Given the description of an element on the screen output the (x, y) to click on. 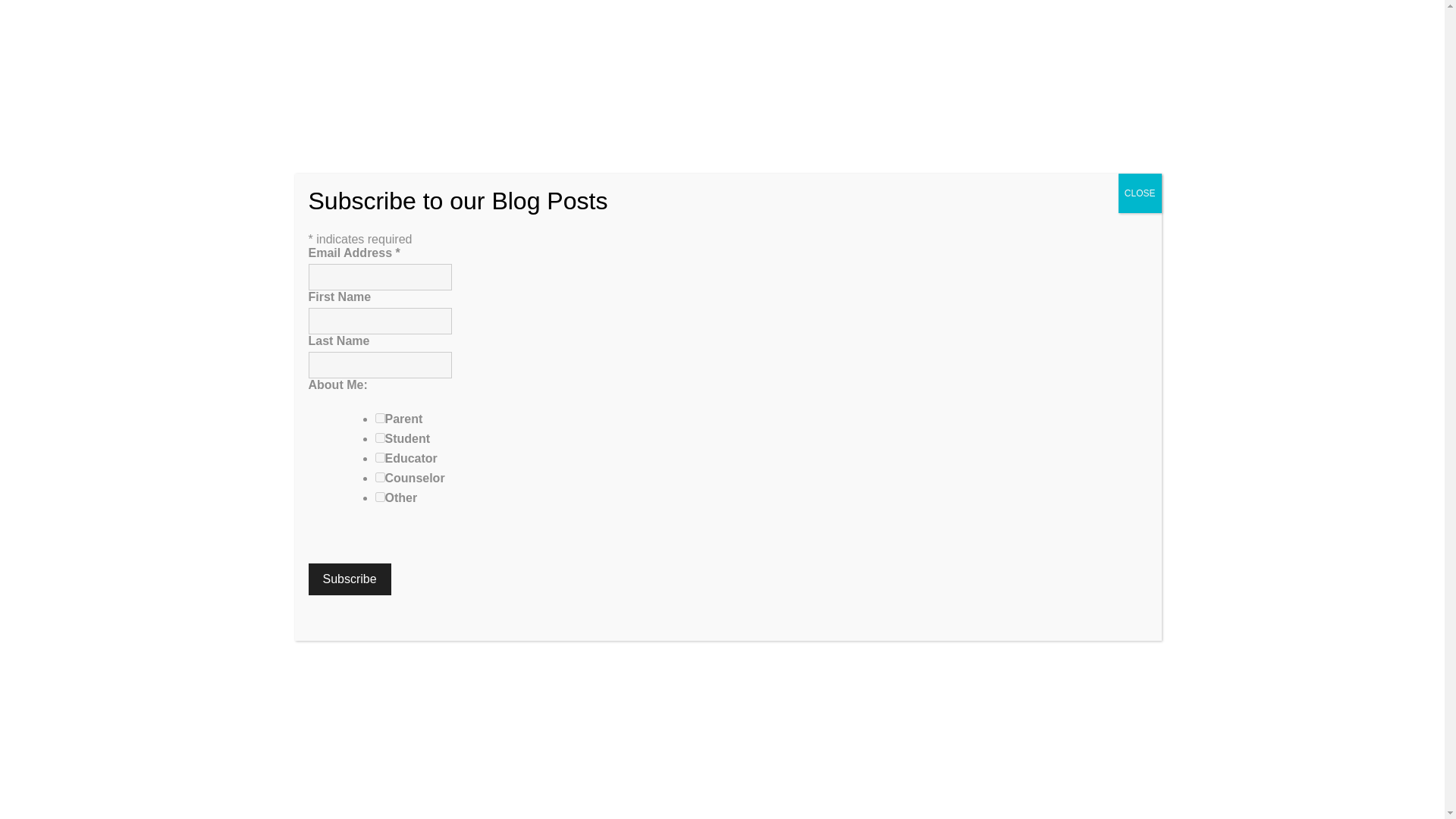
Hubbubbaloo Creative (401, 796)
High school junior (526, 779)
High school senior (618, 779)
career (929, 491)
2 (379, 438)
16 (379, 497)
College majors (688, 764)
College decisions (605, 764)
College admissions (411, 764)
THE TEAM (644, 18)
process that unfolds (689, 684)
High school sophomore (505, 787)
Career (343, 764)
eye-opening (461, 507)
